Given the description of an element on the screen output the (x, y) to click on. 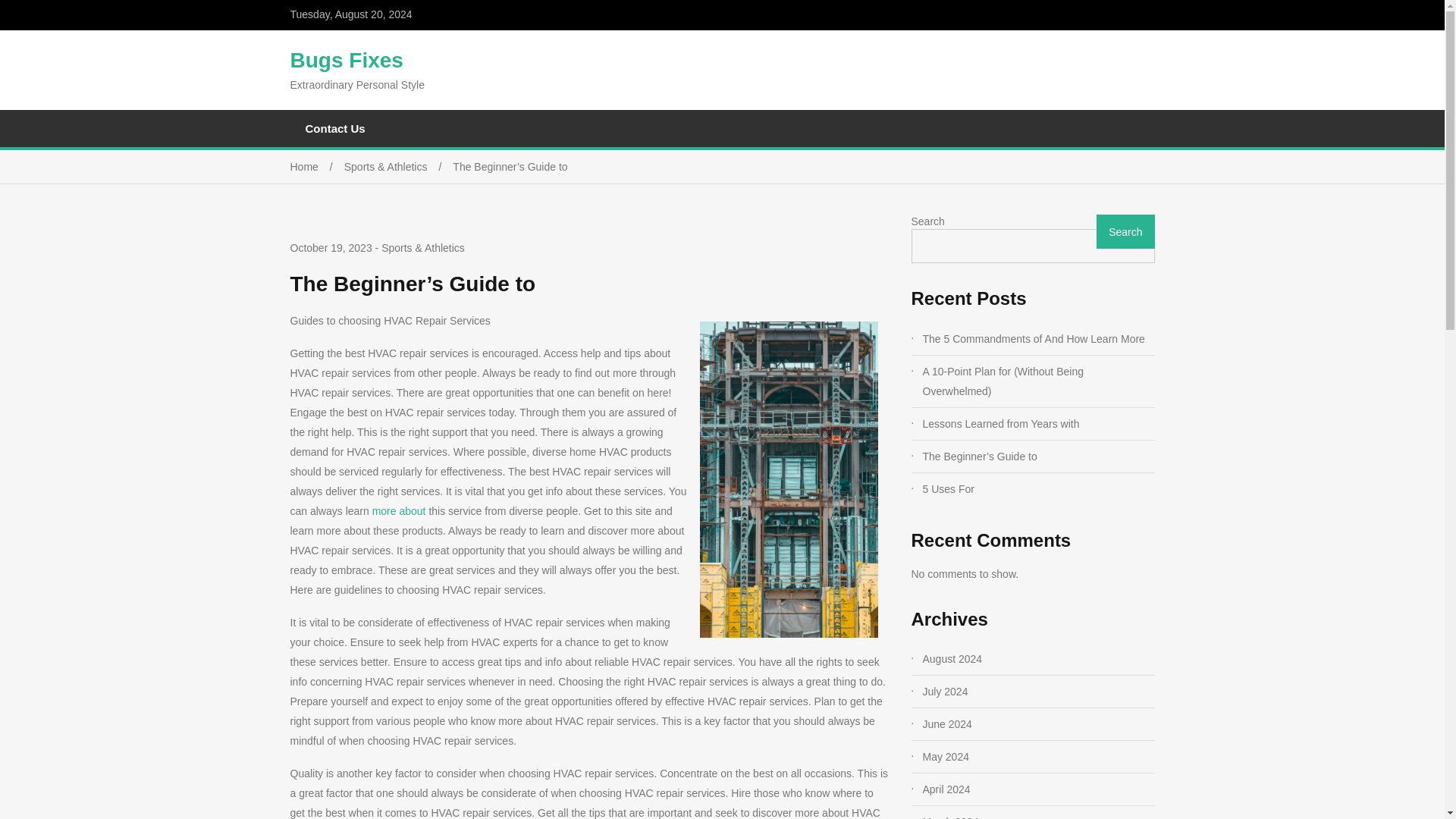
The 5 Commandments of And How Learn More (1037, 338)
Search (1125, 231)
Home (316, 166)
Contact Us (334, 128)
Lessons Learned from Years with (1037, 424)
Bugs Fixes (346, 60)
October 19, 2023 (330, 248)
more about (399, 510)
